Given the description of an element on the screen output the (x, y) to click on. 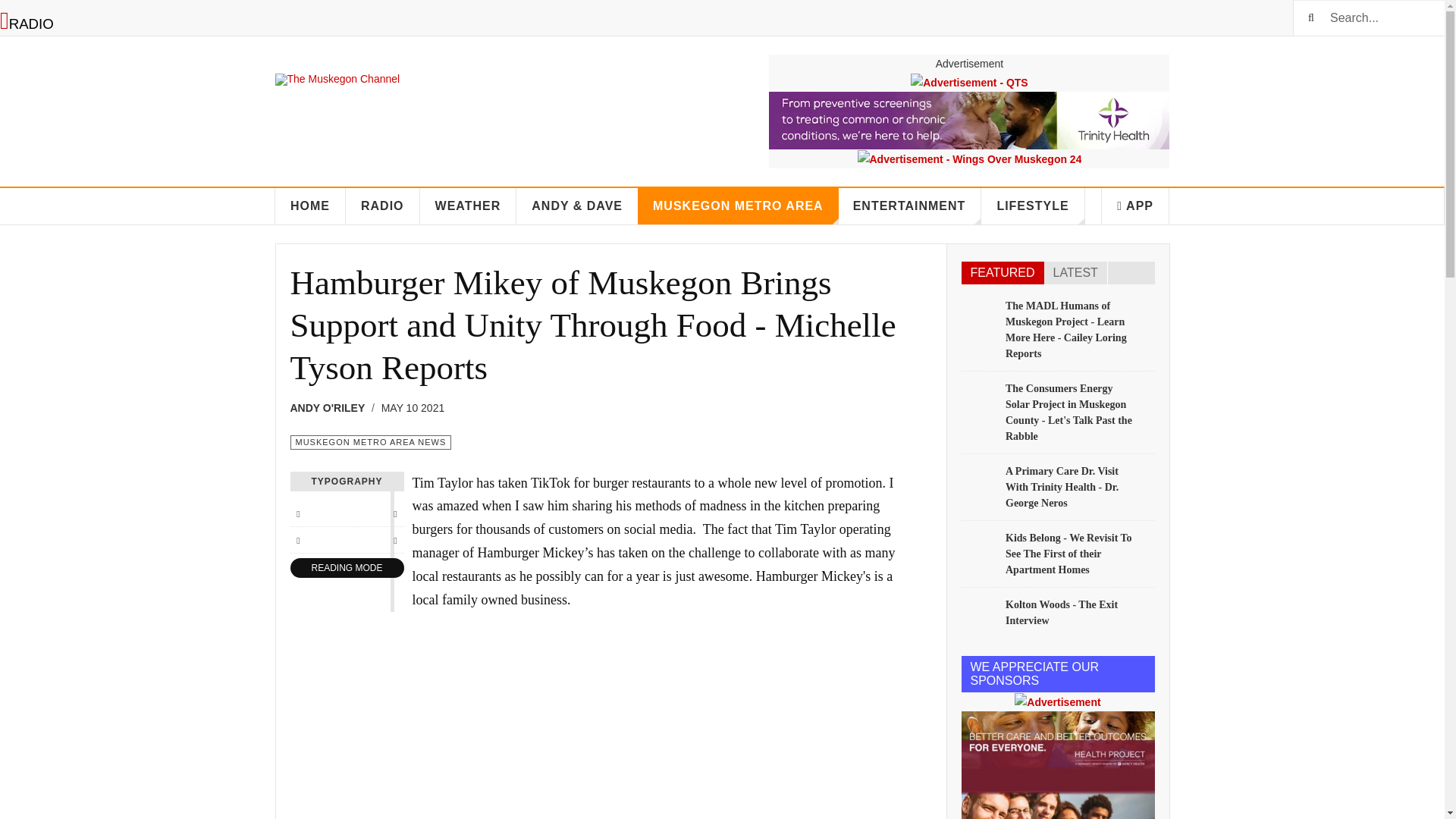
The Muskegon Channel (336, 69)
Mercy Health Trinity (968, 119)
HOME (310, 206)
Play Online Radio (26, 24)
RADIO (383, 206)
MUSKEGON METRO AREA (737, 206)
WEATHER (468, 206)
Wings Over Muskegon 24 (968, 158)
